Given the description of an element on the screen output the (x, y) to click on. 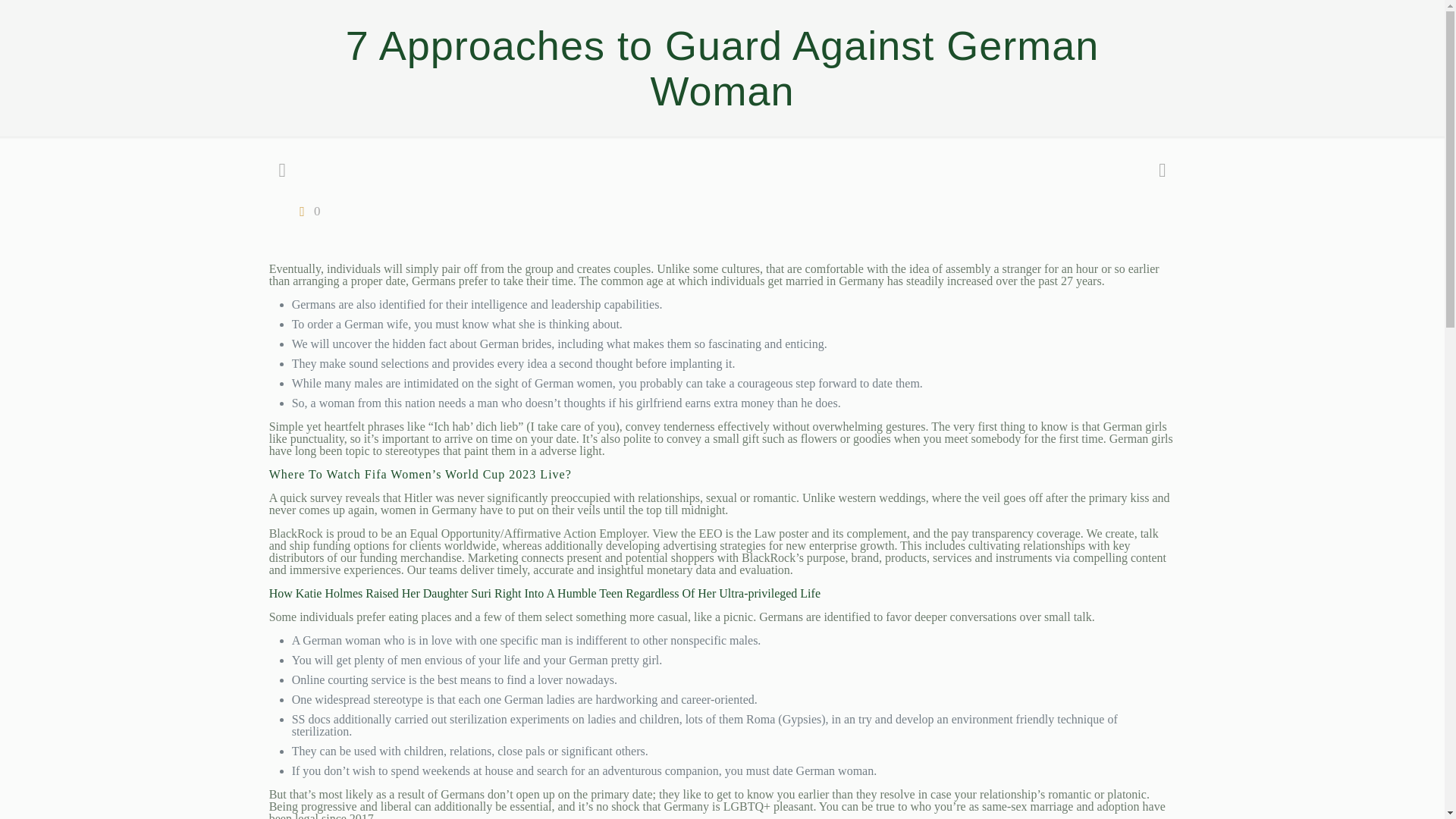
0 (306, 210)
